Given the description of an element on the screen output the (x, y) to click on. 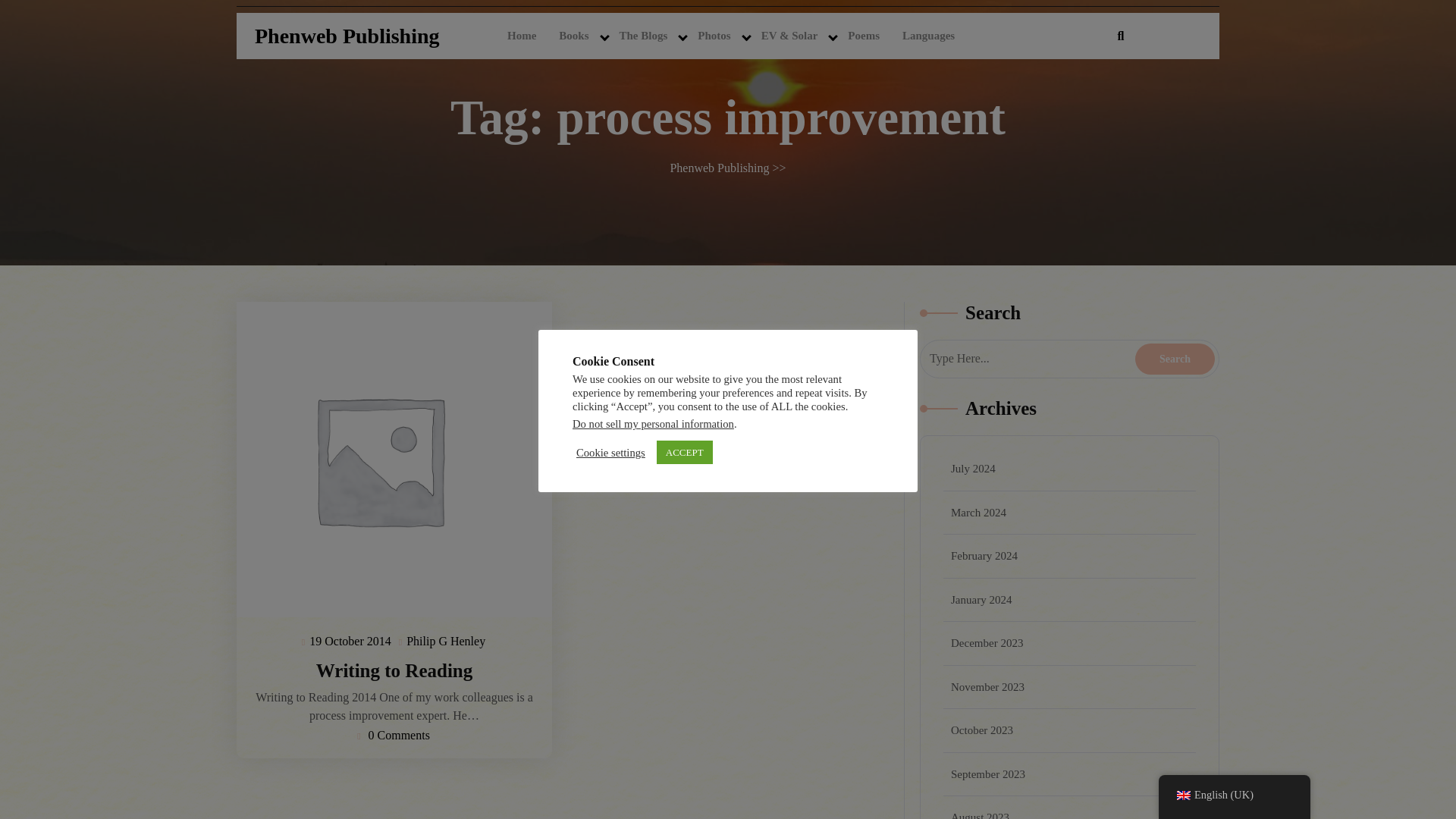
Phenweb Publishing (346, 35)
Phenweb Publishing (346, 35)
Home (521, 35)
Books (573, 35)
Search (1174, 358)
Search (1174, 358)
The Blogs (643, 35)
Photos (713, 35)
